Given the description of an element on the screen output the (x, y) to click on. 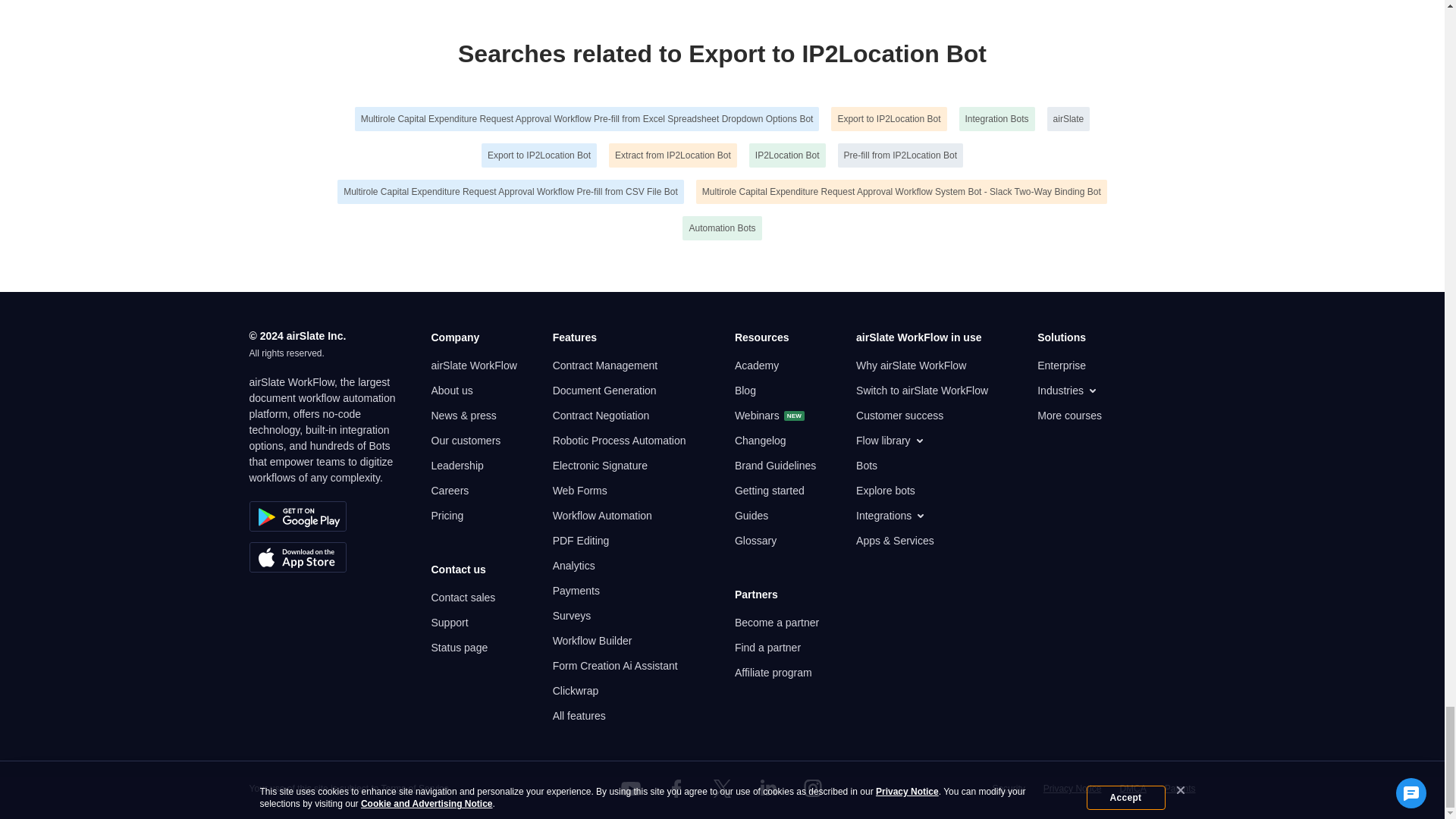
Facebook (676, 788)
Instagram (812, 788)
LinkedIn (767, 788)
YouTube (630, 788)
Twitter (721, 788)
